Given the description of an element on the screen output the (x, y) to click on. 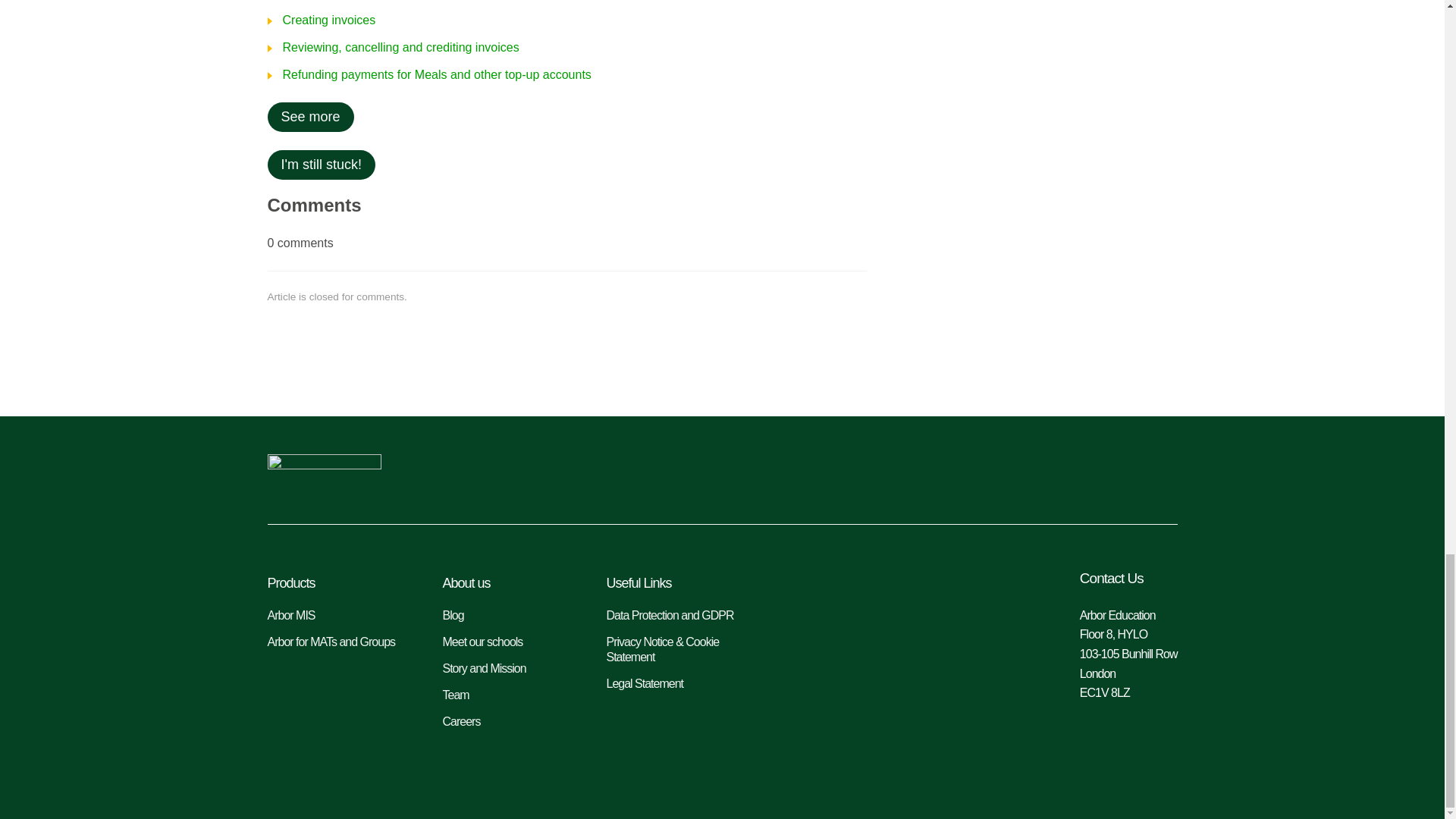
Refunding payments for Meals and other top-up accounts (428, 74)
Facebook (1159, 474)
Arbor MIS (339, 615)
Creating invoices (320, 20)
Twitter (1109, 474)
Arbor for MATs and Groups (339, 642)
Linkedin (1061, 474)
I'm still stuck! (320, 164)
Products (339, 582)
Reviewing, cancelling and crediting invoices (392, 47)
